Given the description of an element on the screen output the (x, y) to click on. 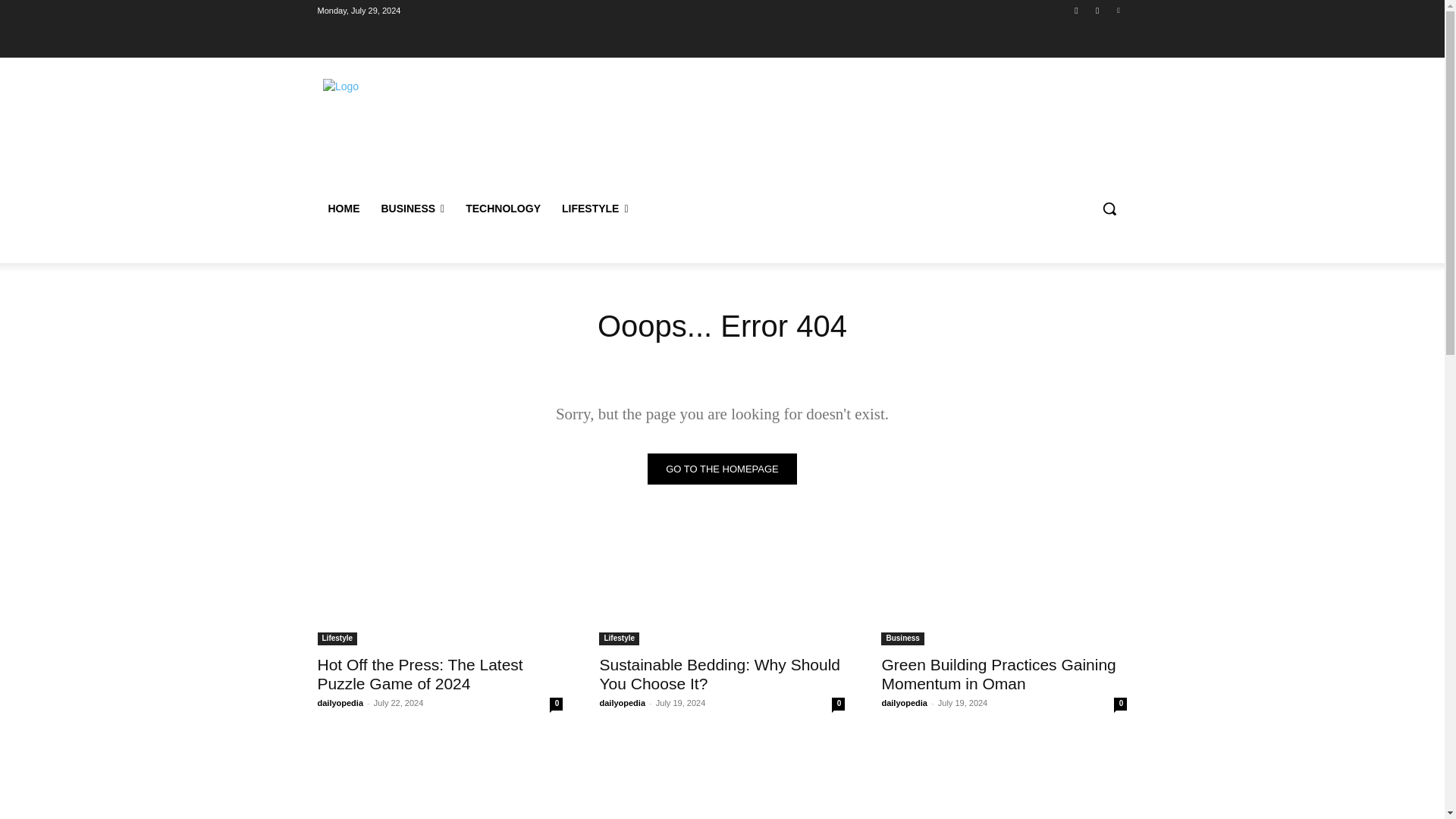
0 (837, 703)
Go to the homepage (721, 468)
HOME (343, 208)
Lifestyle (618, 638)
0 (556, 703)
Green Building Practices Gaining Momentum in Oman (1003, 583)
Green Building Practices Gaining Momentum in Oman (997, 674)
Hot Off the Press: The Latest Puzzle Game of 2024 (419, 674)
LIFESTYLE (595, 208)
Facebook (1075, 9)
dailyopedia (621, 702)
Sustainable Bedding: Why Should You Choose It? (721, 583)
BUSINESS (411, 208)
Instagram (1097, 9)
Hot Off the Press: The Latest Puzzle Game of 2024 (439, 583)
